Given the description of an element on the screen output the (x, y) to click on. 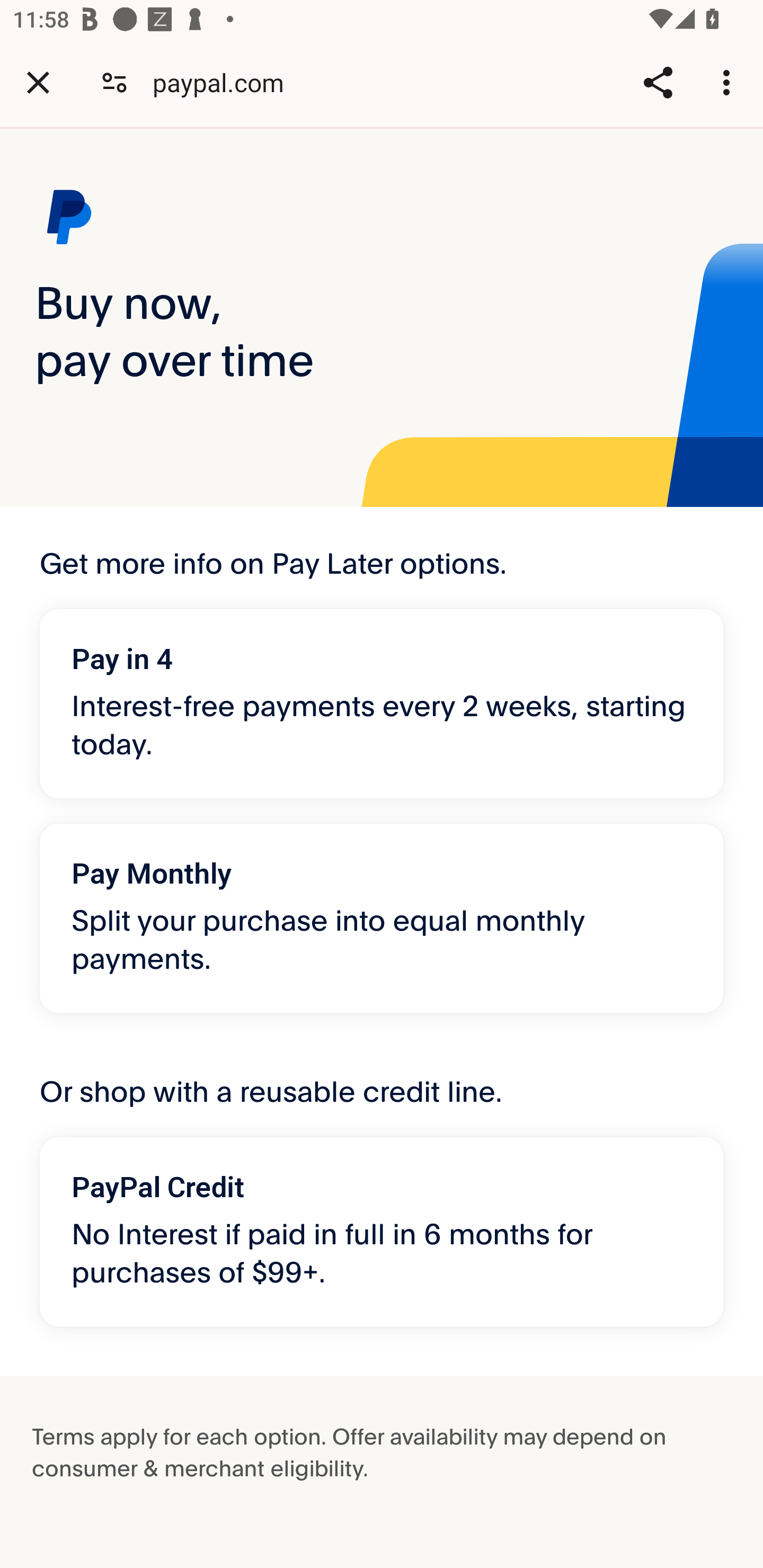
Close tab (38, 82)
Share (657, 82)
Customize and control Google Chrome (729, 82)
Connection is secure (114, 81)
paypal.com (224, 81)
